Given the description of an element on the screen output the (x, y) to click on. 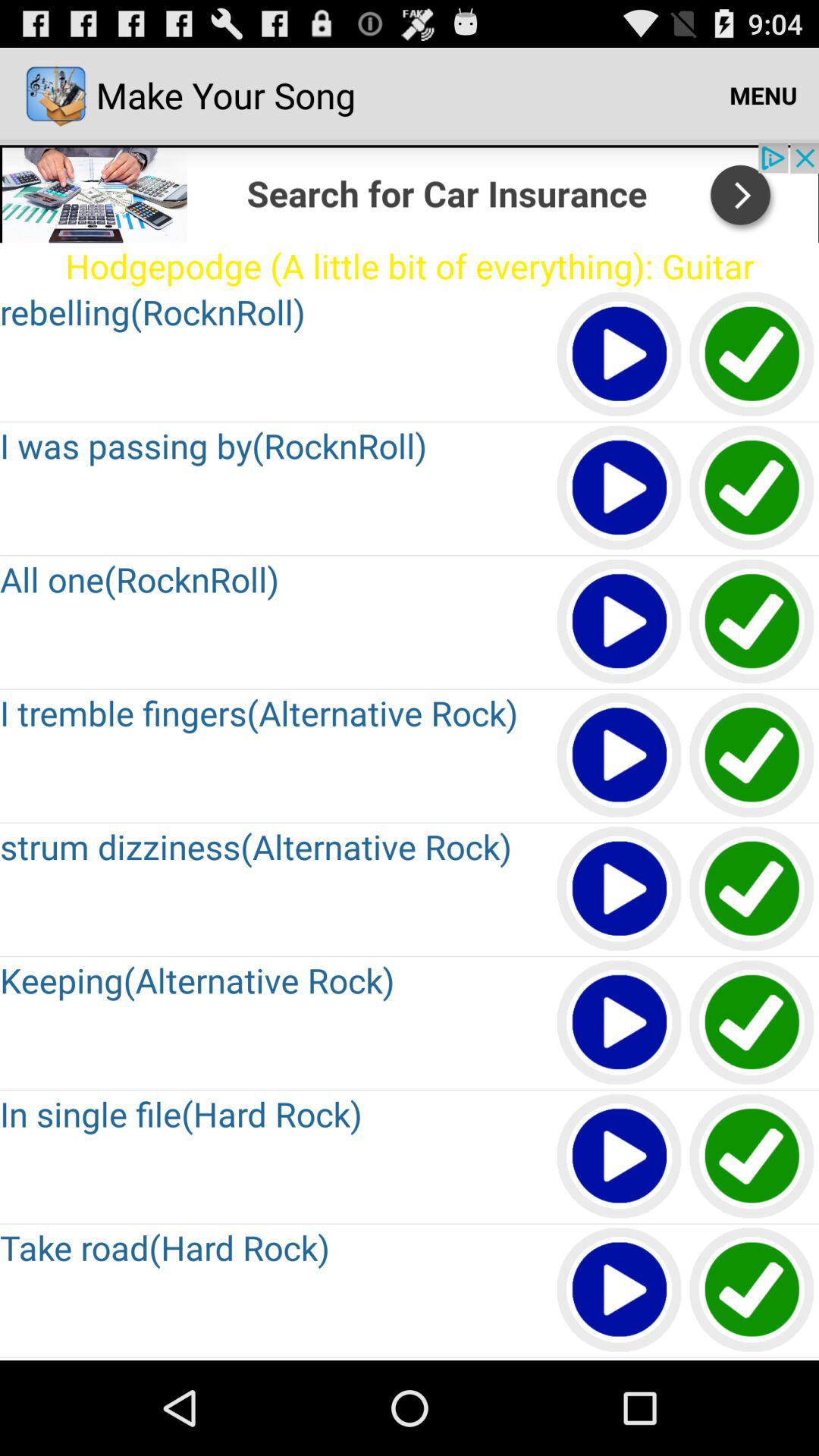
play song (619, 1023)
